Given the description of an element on the screen output the (x, y) to click on. 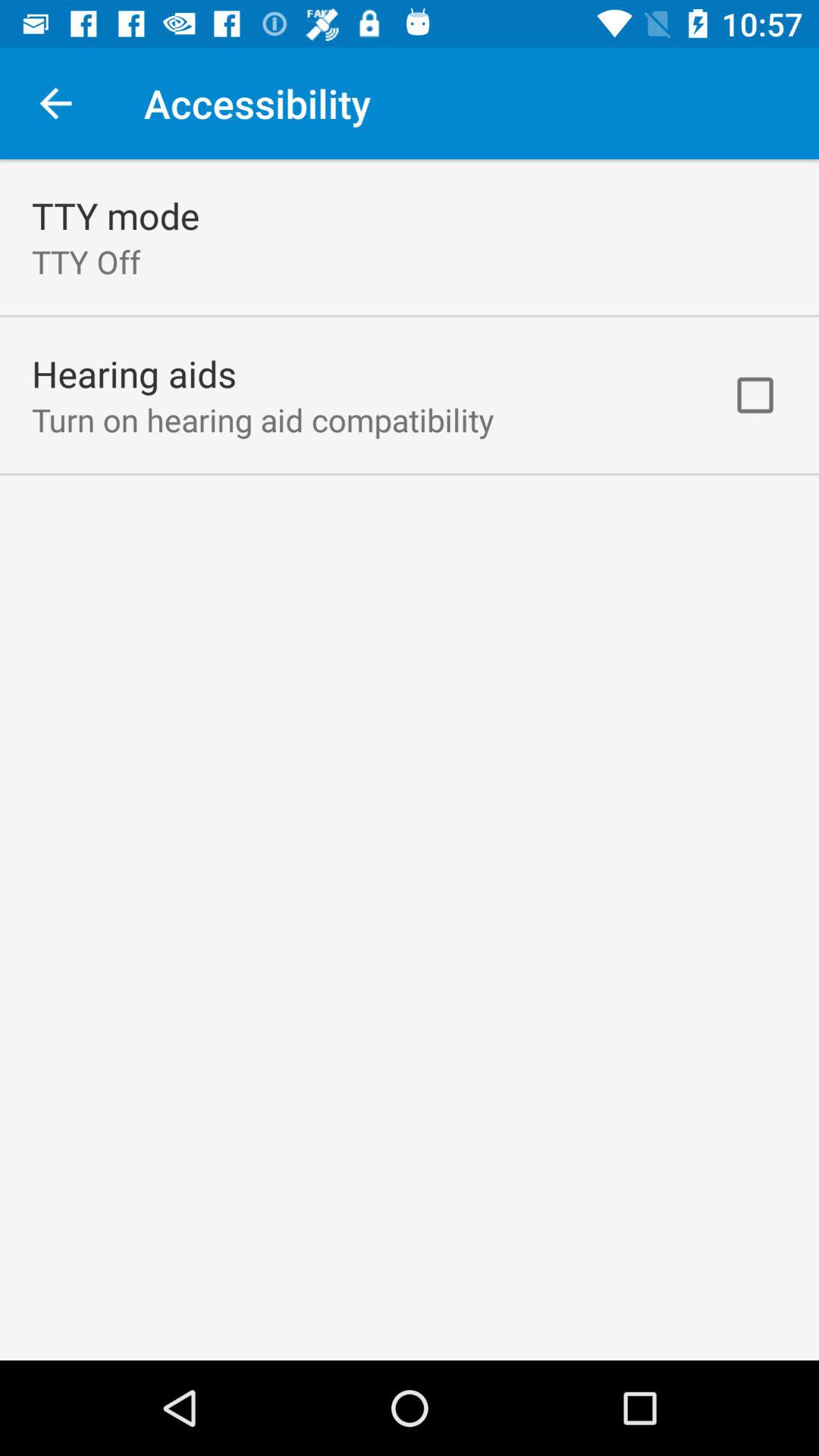
turn on tty mode (115, 215)
